Given the description of an element on the screen output the (x, y) to click on. 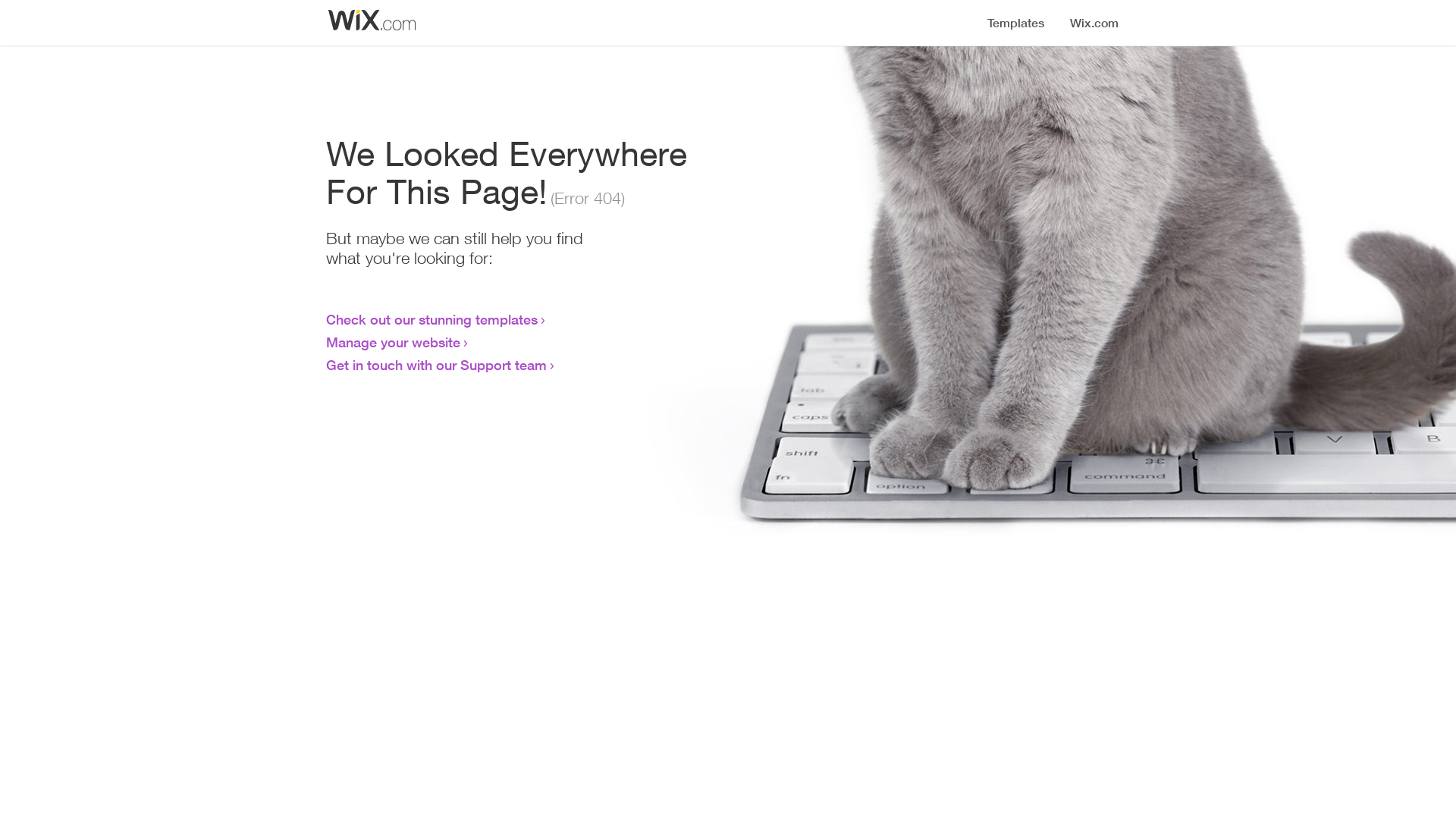
Manage your website Element type: text (393, 341)
Check out our stunning templates Element type: text (431, 318)
Get in touch with our Support team Element type: text (436, 364)
